Given the description of an element on the screen output the (x, y) to click on. 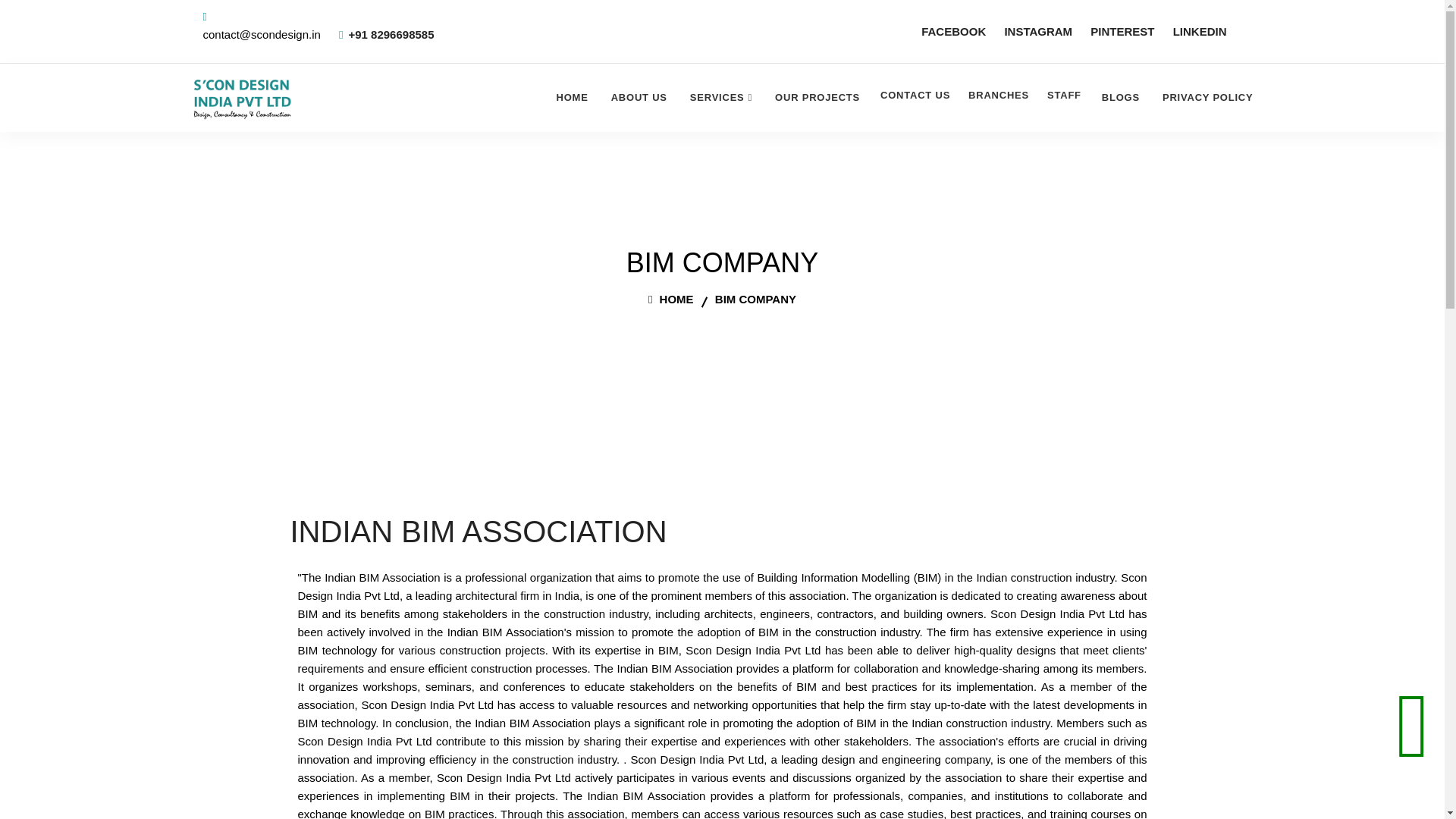
INSTAGRAM (1037, 31)
PINTEREST (1122, 31)
ABOUT US (639, 97)
SERVICES (721, 97)
FACEBOOK (953, 31)
LINKEDIN (1200, 31)
scon design (241, 97)
